Given the description of an element on the screen output the (x, y) to click on. 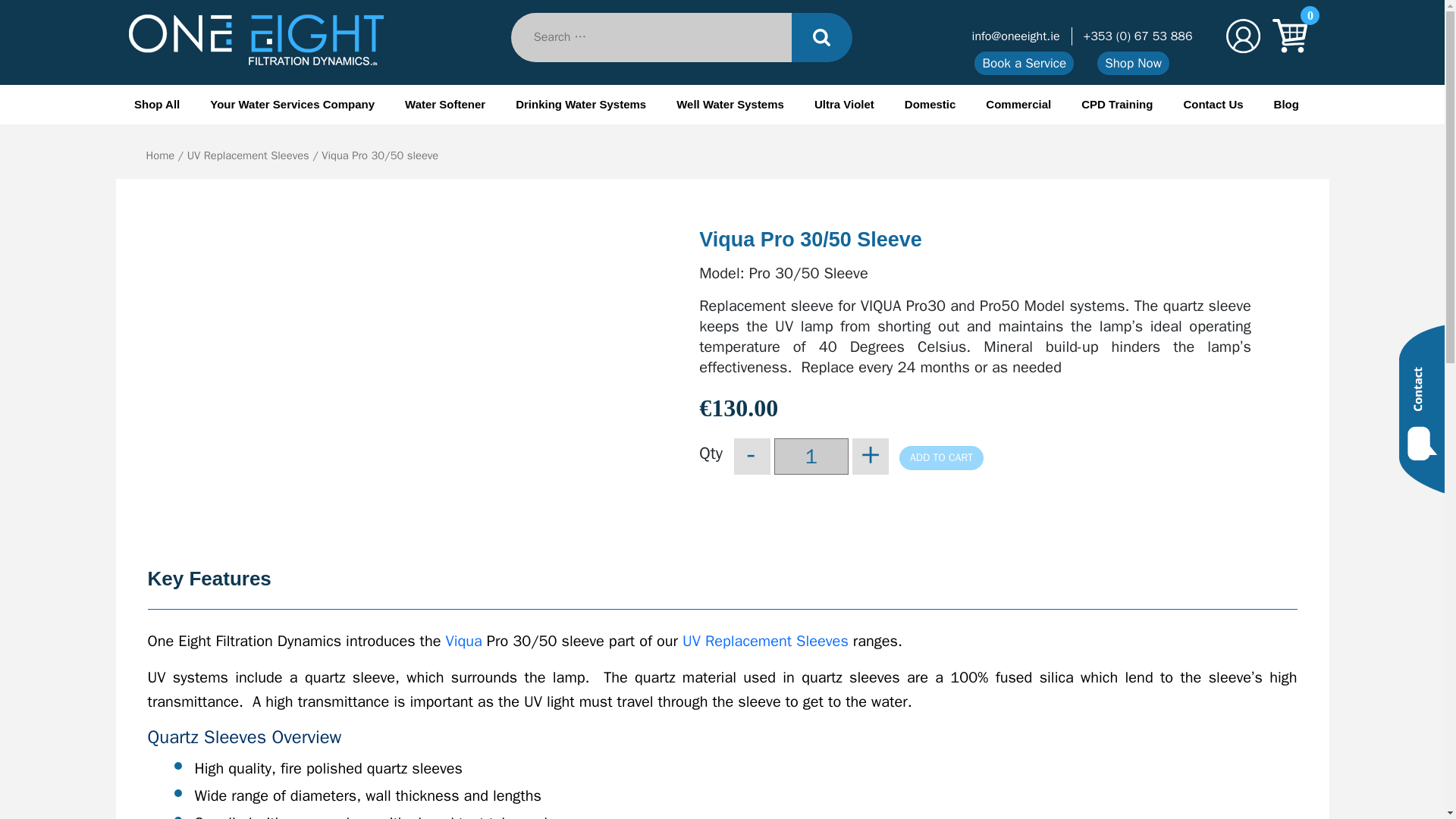
Well Water Systems (730, 105)
Your Water Services Company (291, 105)
Domestic (930, 105)
Drinking Water Systems (580, 105)
Ultra Violet (844, 105)
Search (821, 37)
One Eight Filtration Dynamics (201, 85)
Search (821, 37)
Book a Service (1024, 63)
1 (811, 456)
